Given the description of an element on the screen output the (x, y) to click on. 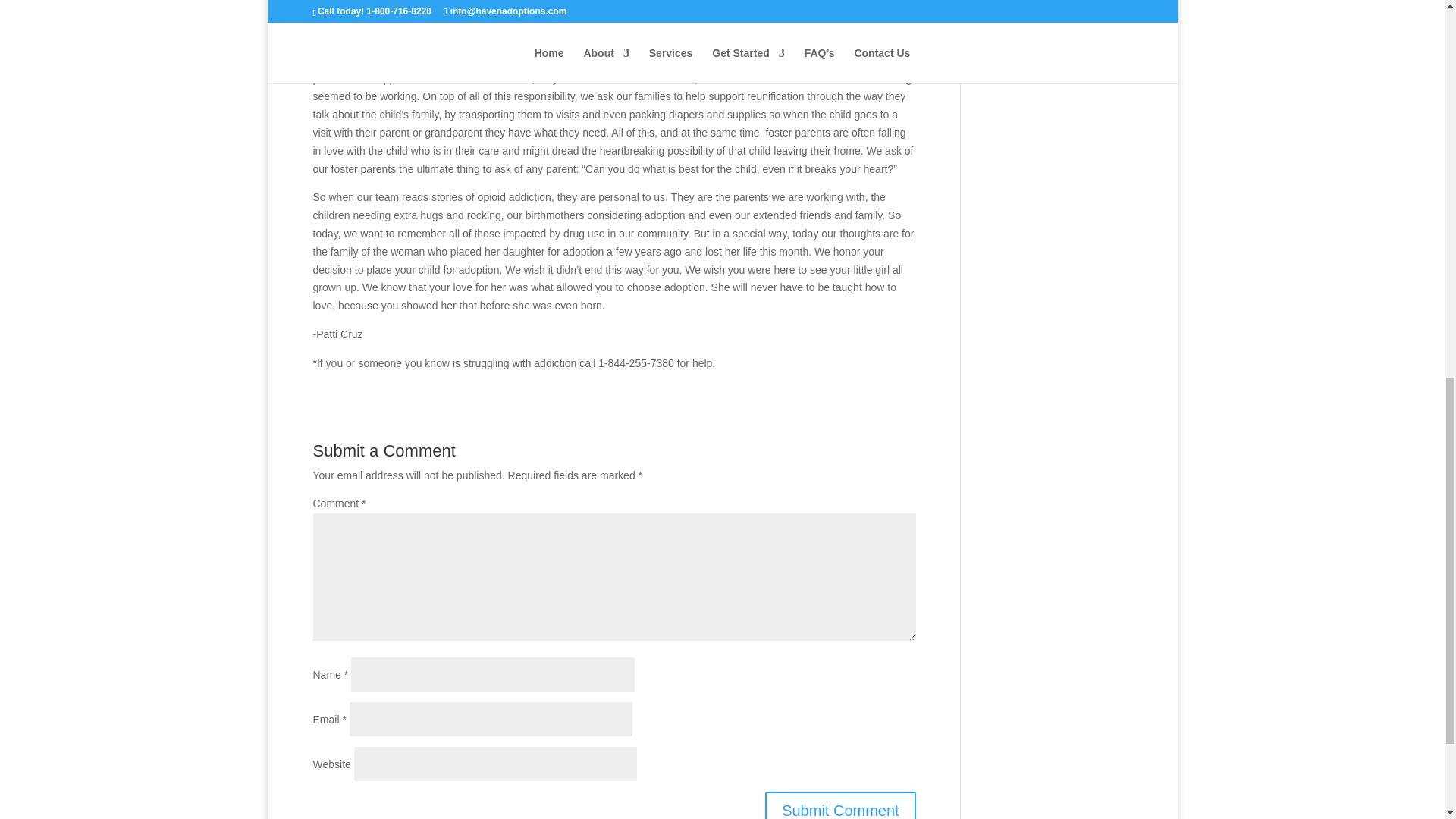
Submit Comment (840, 805)
Submit Comment (840, 805)
